Given the description of an element on the screen output the (x, y) to click on. 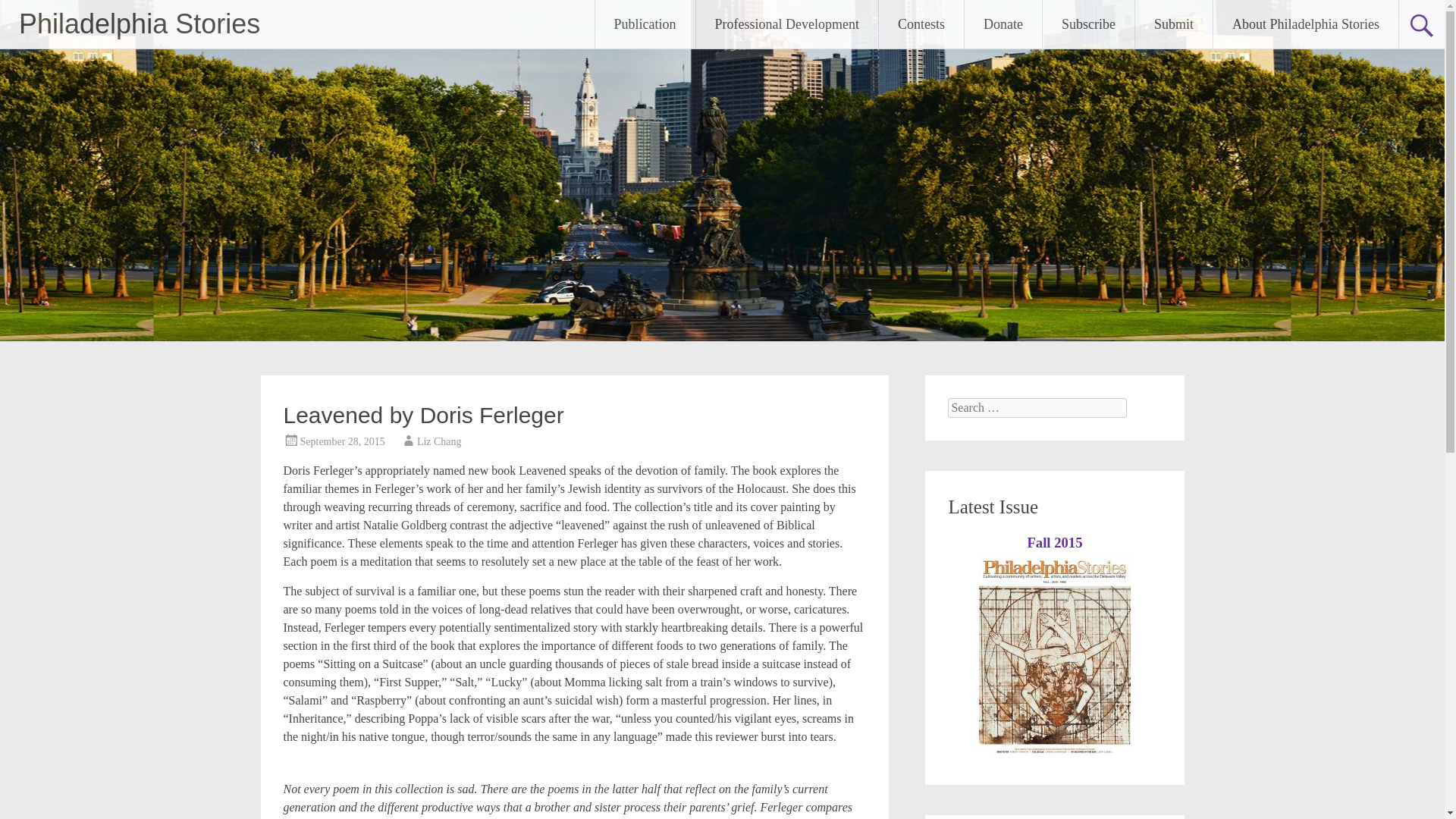
Philadelphia Stories (139, 23)
Search (26, 12)
About Philadelphia Stories (1304, 24)
Subscribe (1088, 24)
Professional Development (786, 24)
Fall 2015 (1053, 542)
Publication (645, 24)
Contests (921, 24)
Donate (1002, 24)
September 28, 2015 (342, 441)
